Given the description of an element on the screen output the (x, y) to click on. 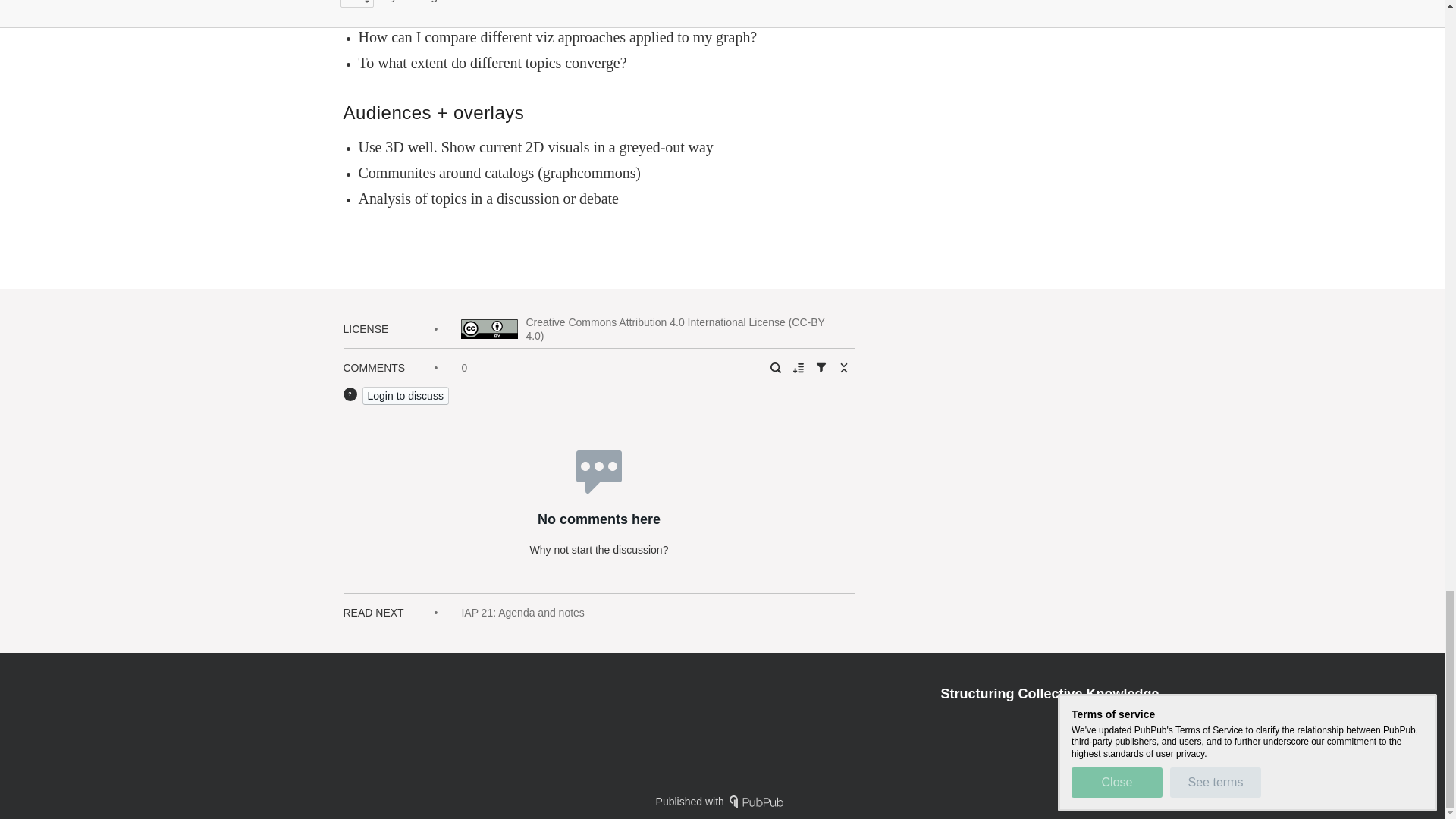
Structuring Collective Knowledge (1049, 693)
Login to discuss (405, 395)
IAP 21: Agenda and notes (522, 612)
